Given the description of an element on the screen output the (x, y) to click on. 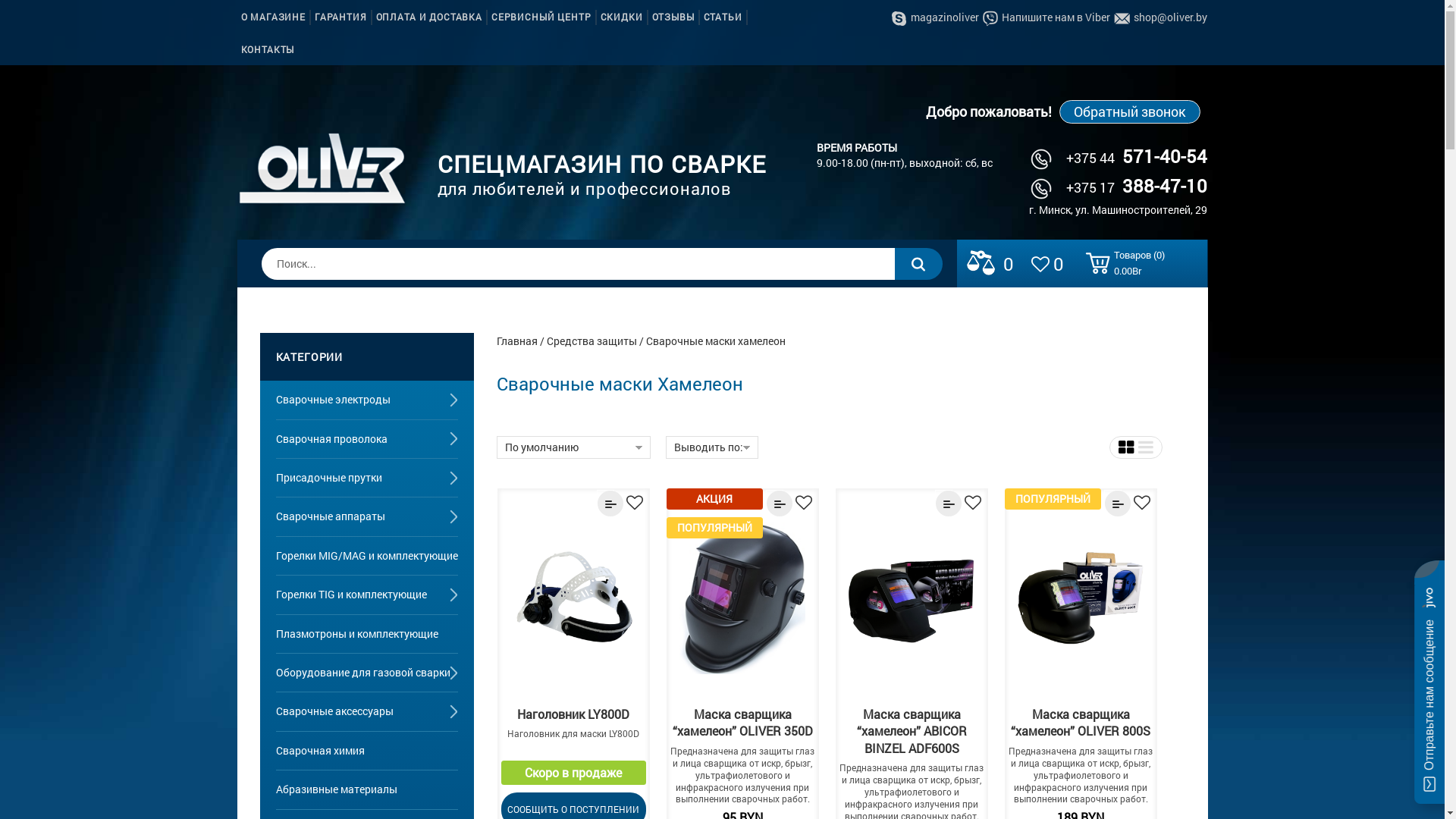
0 Element type: text (990, 262)
magazinoliver Element type: text (935, 16)
+375 17388-47-10 Element type: text (1118, 187)
0 Element type: text (1049, 262)
shop@oliver.by Element type: text (1160, 16)
+375 44571-40-54 Element type: text (1118, 157)
